Given the description of an element on the screen output the (x, y) to click on. 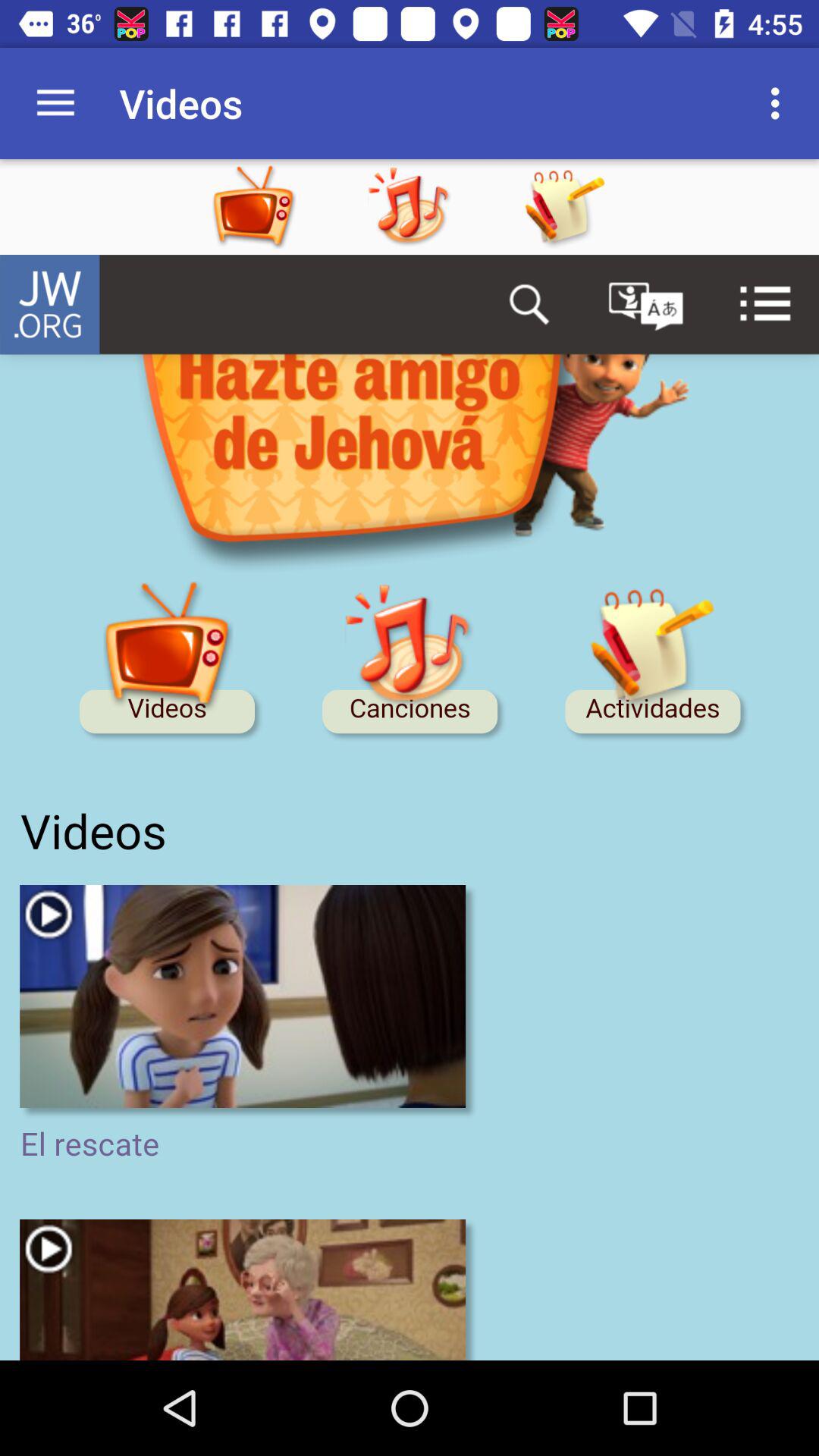
click to the app option (564, 206)
